Given the description of an element on the screen output the (x, y) to click on. 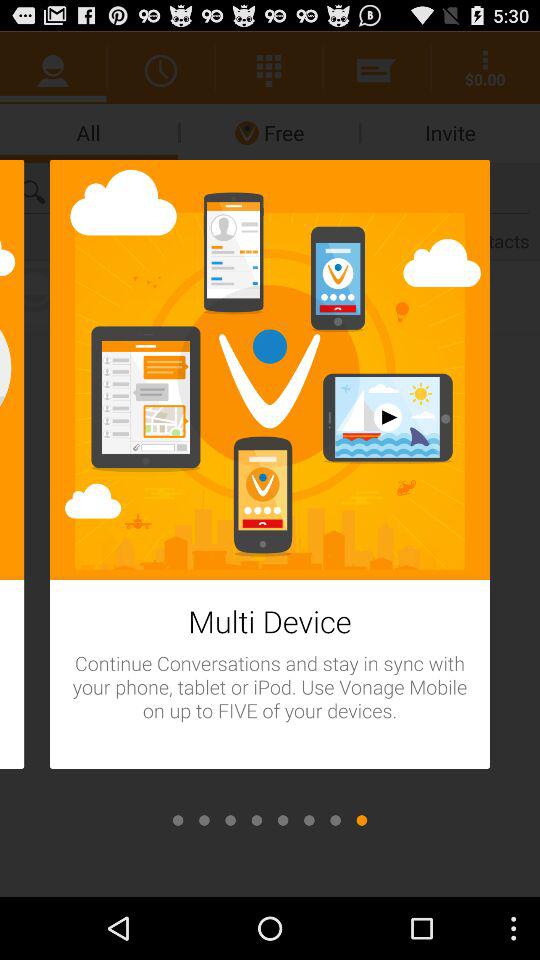
slide to the last instructional screen (361, 820)
